Given the description of an element on the screen output the (x, y) to click on. 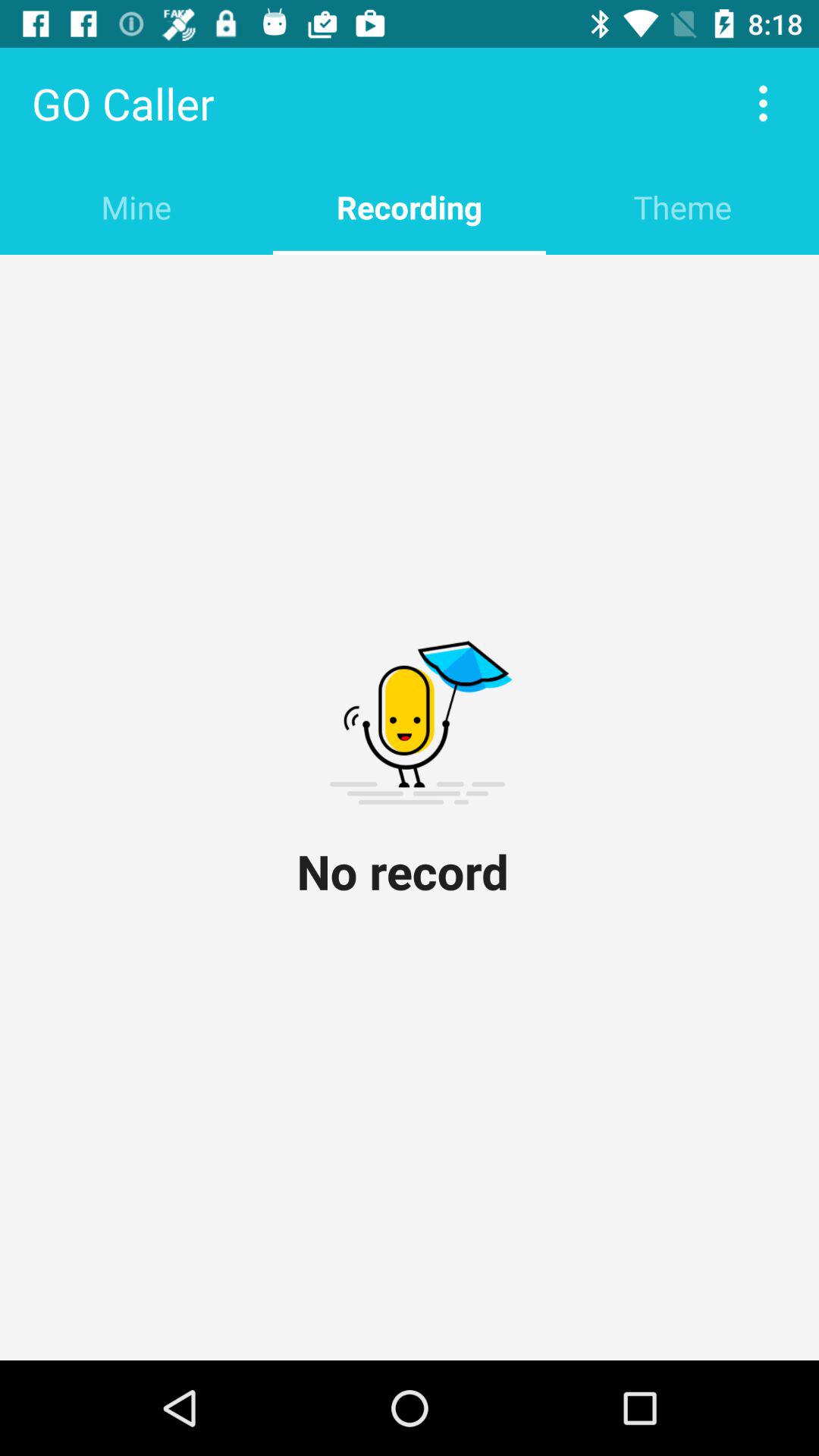
turn on the item below go caller (136, 206)
